Given the description of an element on the screen output the (x, y) to click on. 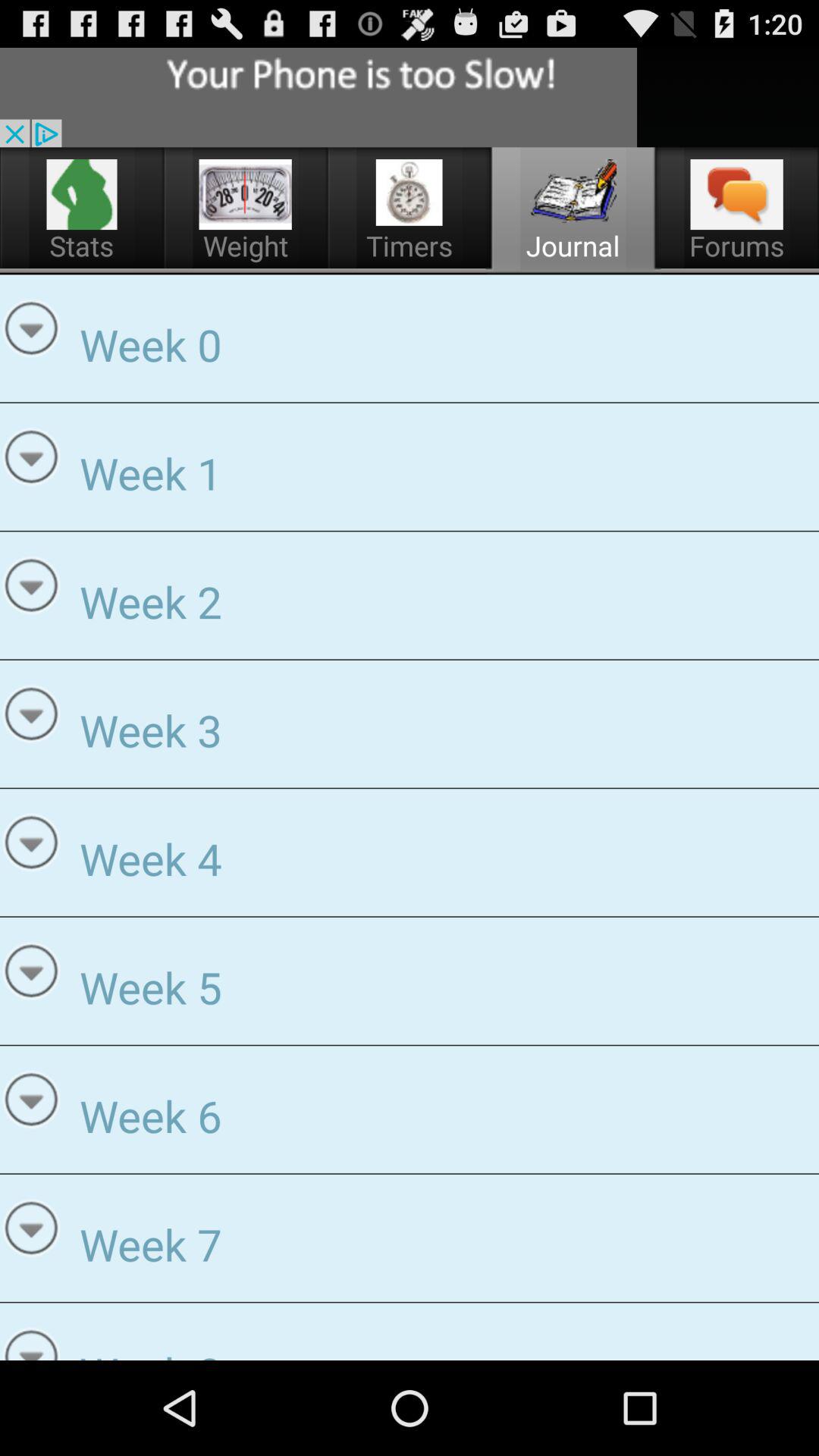
advertisement (318, 97)
